Given the description of an element on the screen output the (x, y) to click on. 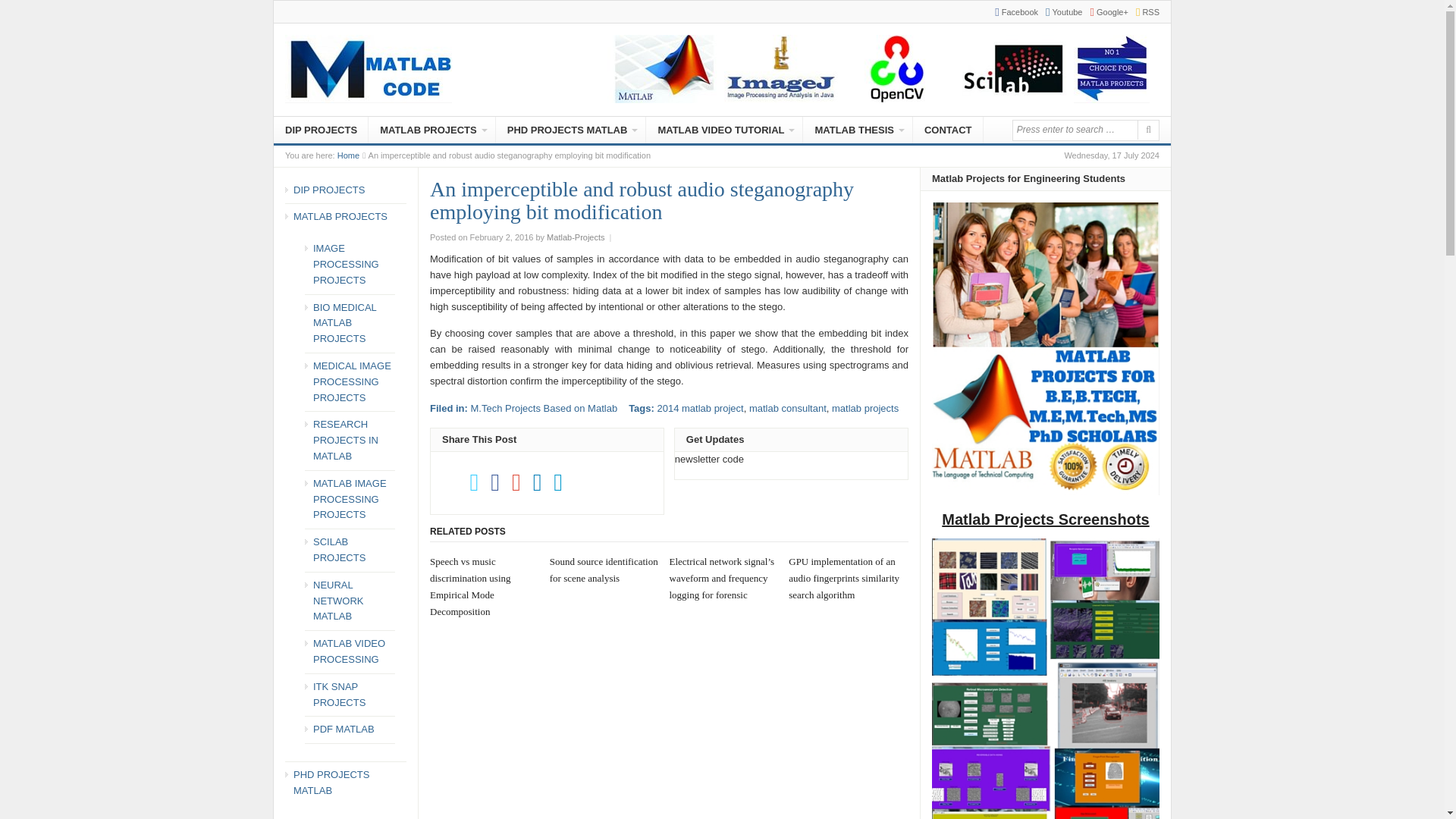
Twitter (1059, 11)
GooglePlus (1105, 11)
Facebook (1012, 11)
Search for: (1073, 129)
matlab projects for engineering students (1044, 348)
Scilab-Projects (1013, 69)
OpenCV-Projects (896, 69)
Facebook (1012, 11)
RSS (1143, 11)
image-processing-Projects (1112, 69)
MATLAB PROJECTS (348, 154)
RSS (1143, 11)
Youtube (1059, 11)
 Latest Matlab projects Screenshots (1044, 678)
Matlab-Projects (663, 69)
